Given the description of an element on the screen output the (x, y) to click on. 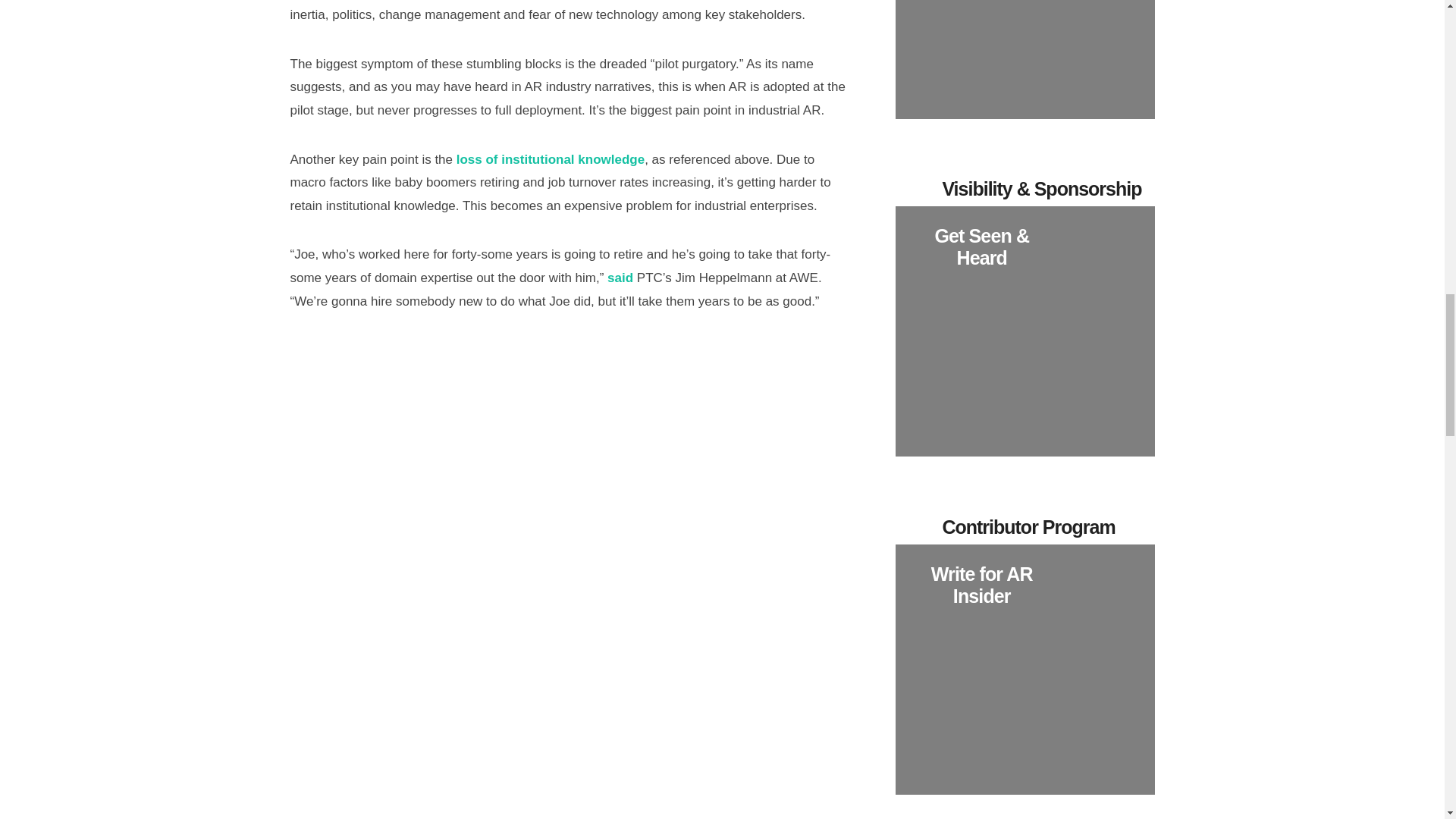
loss of institutional knowledge (551, 159)
said (620, 278)
